Given the description of an element on the screen output the (x, y) to click on. 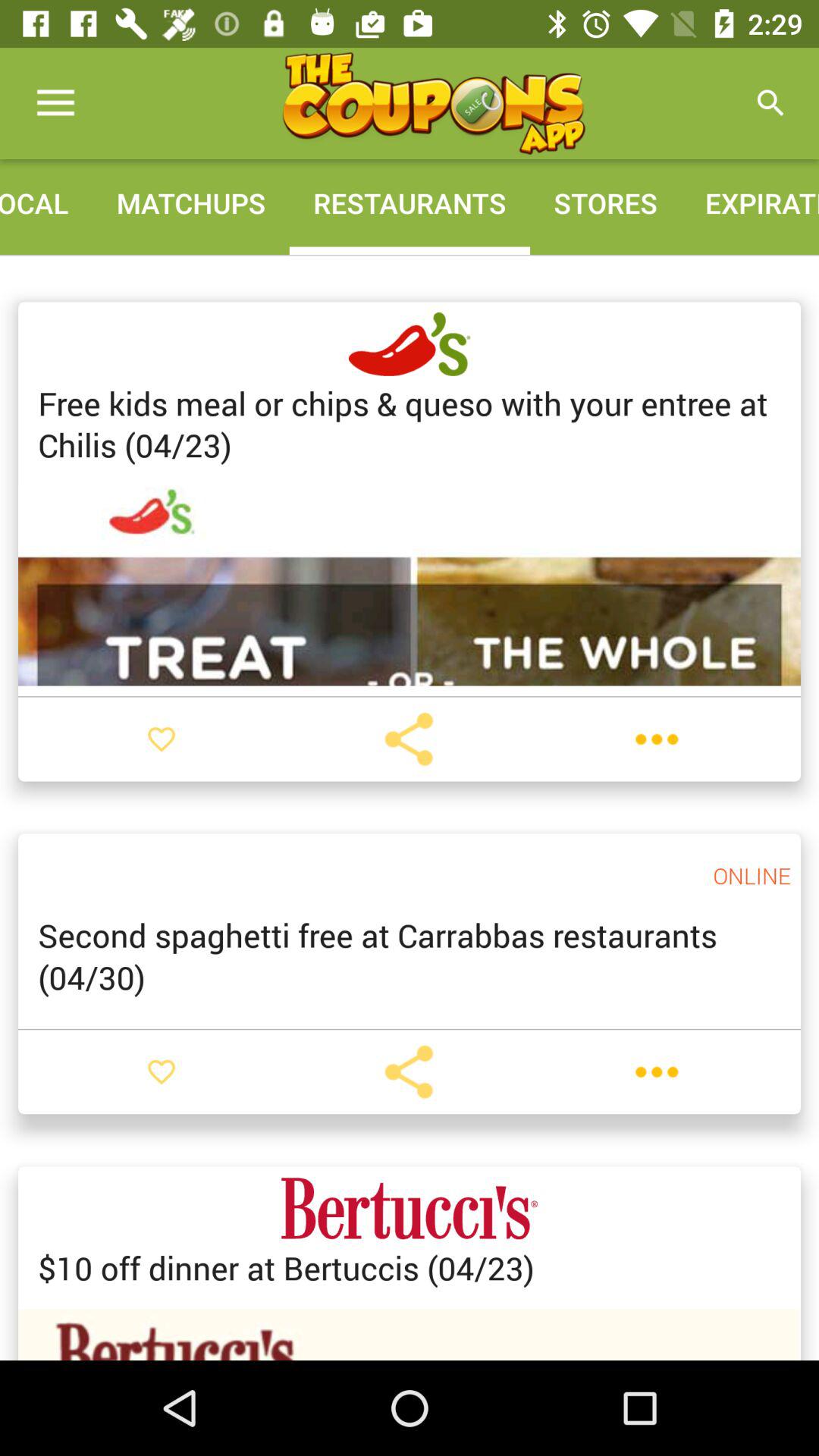
share the article to others (408, 739)
